Given the description of an element on the screen output the (x, y) to click on. 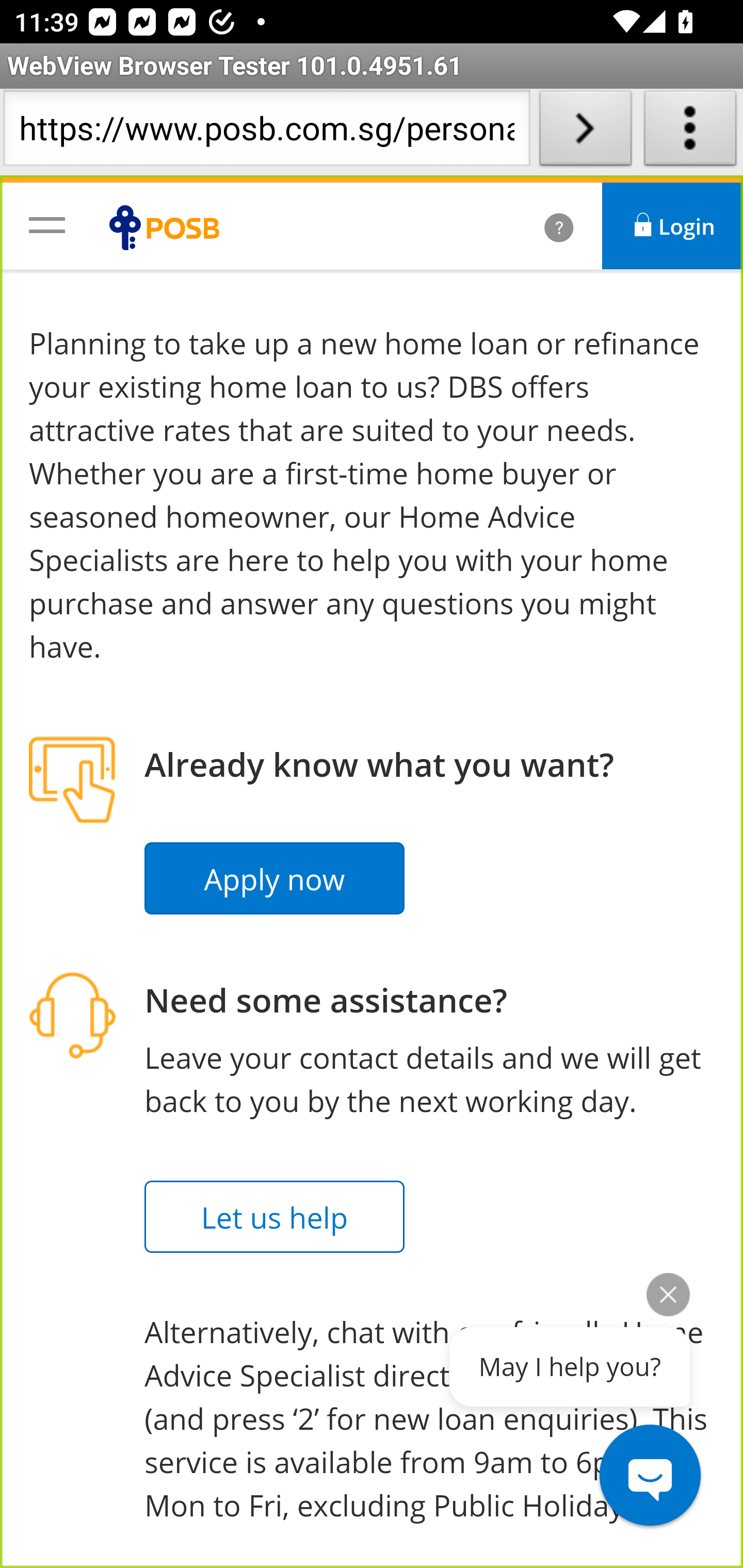
Load URL (585, 132)
About WebView (690, 132)
javascript:void(0); (46, 223)
POSB logo (169, 226)
ﱲ (537, 226)
Login  Login (673, 225)
Apply now (275, 878)
Let us help (275, 1216)
